Given the description of an element on the screen output the (x, y) to click on. 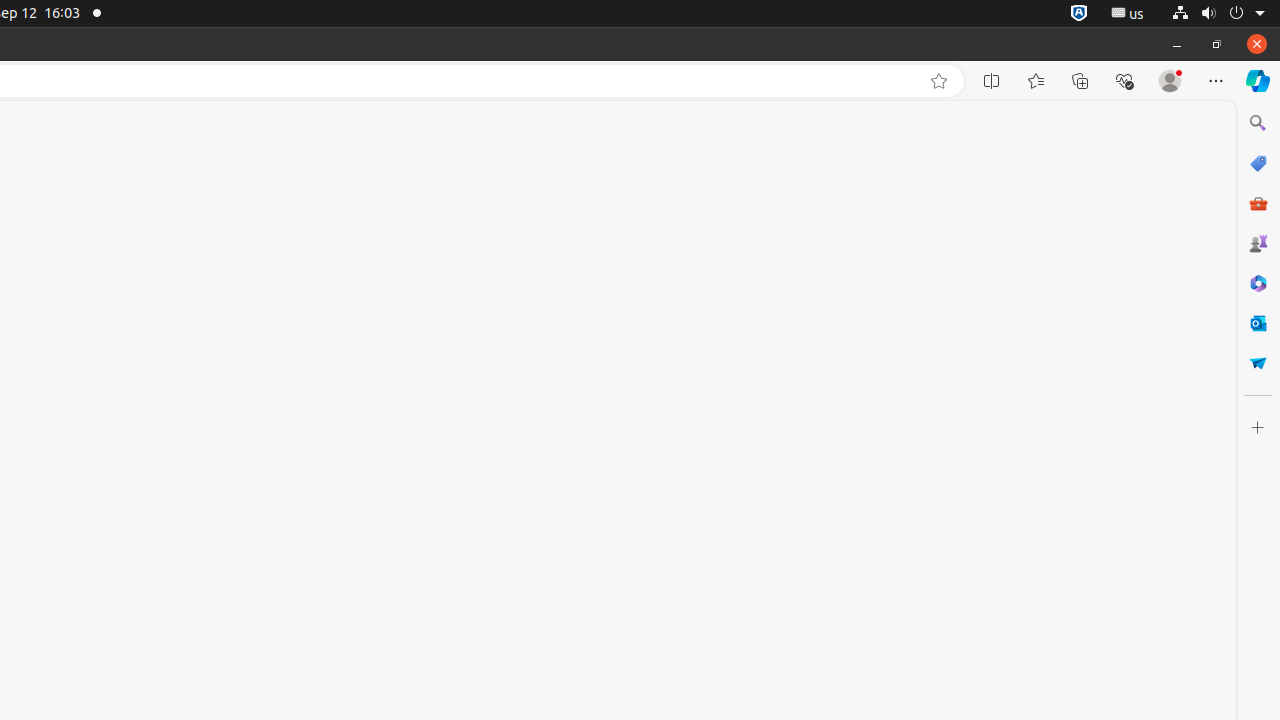
Microsoft Shopping Element type: push-button (1258, 163)
Outlook Element type: push-button (1258, 323)
Settings and more (Alt+F) Element type: push-button (1216, 81)
Search Element type: push-button (1258, 123)
